Given the description of an element on the screen output the (x, y) to click on. 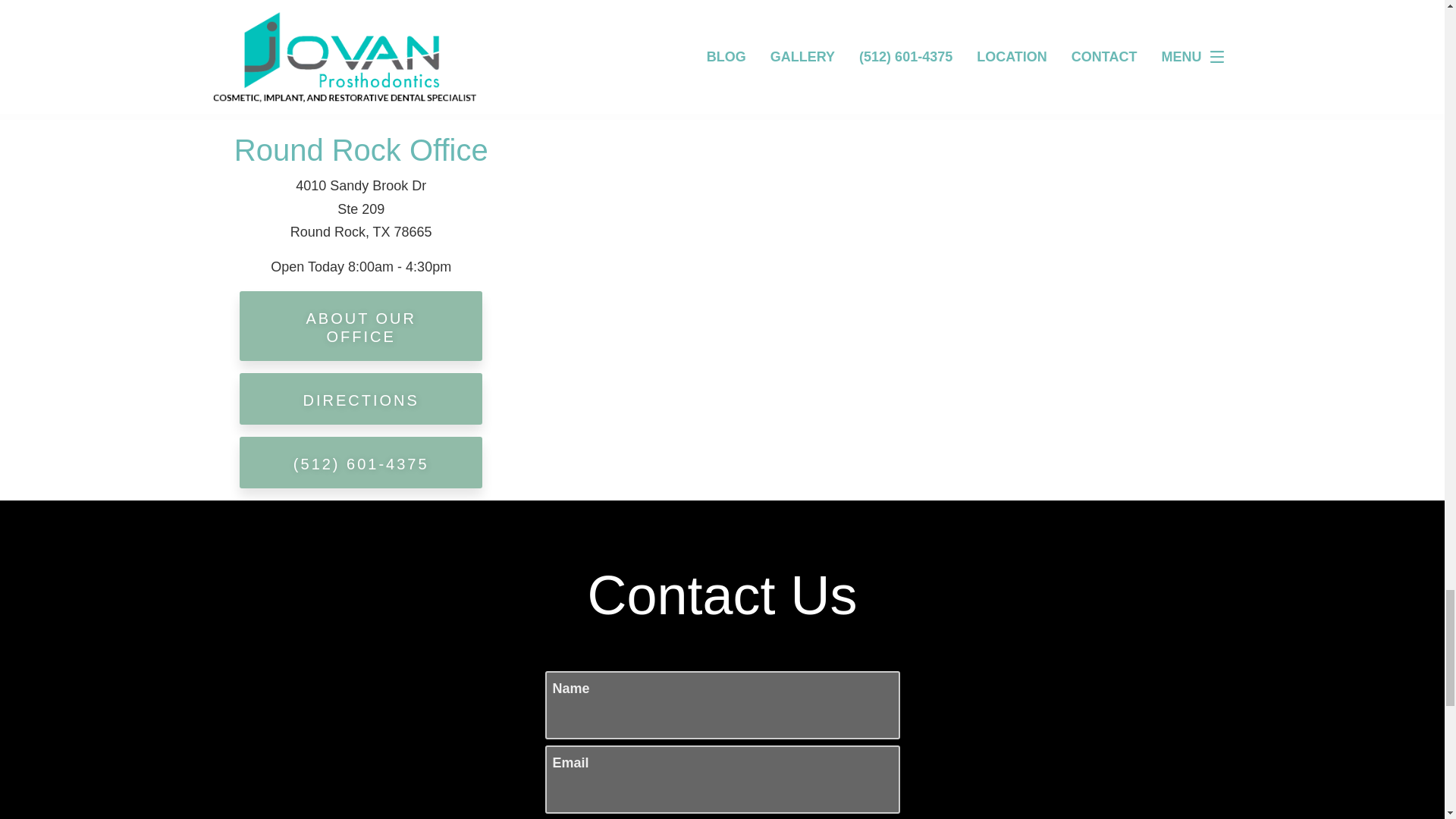
Locations (1041, 130)
Round Rock Office (360, 150)
DIRECTIONS (360, 399)
submitting our online form (879, 41)
our Round Rock, TX, practice (676, 41)
ABOUT OUR OFFICE (360, 326)
